Given the description of an element on the screen output the (x, y) to click on. 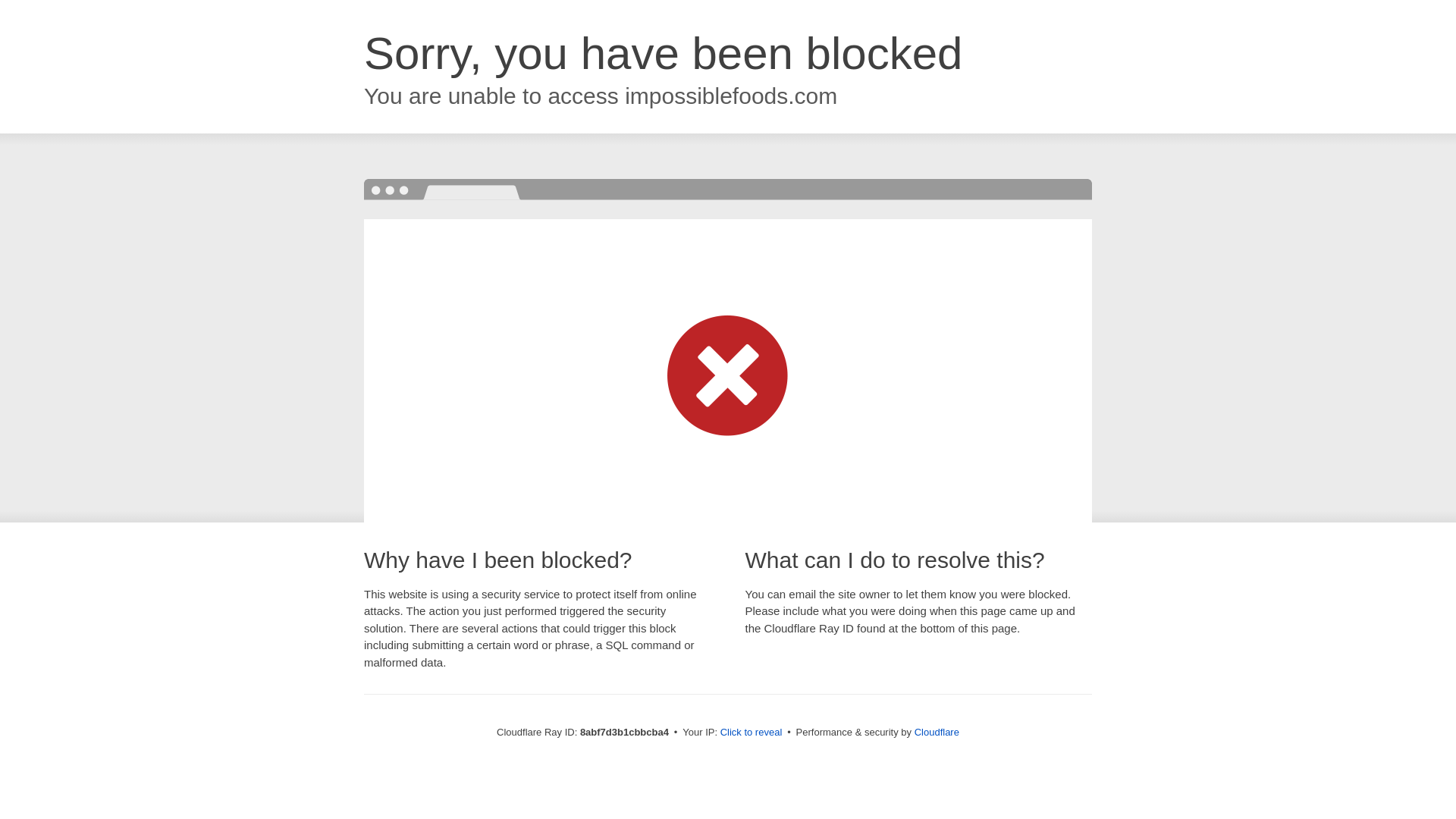
Cloudflare (936, 731)
Click to reveal (751, 732)
